Given the description of an element on the screen output the (x, y) to click on. 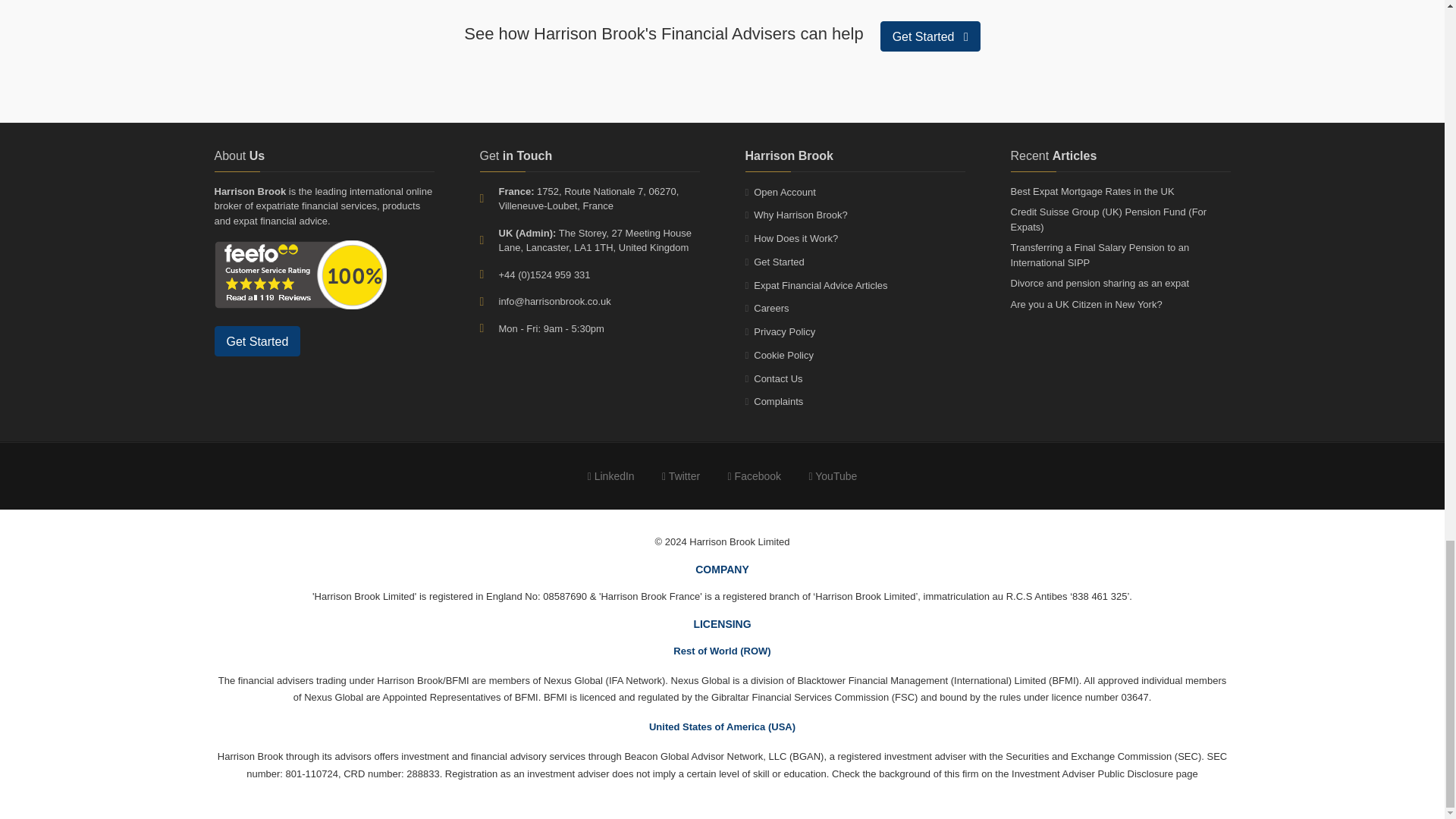
Telephone (488, 274)
